Given the description of an element on the screen output the (x, y) to click on. 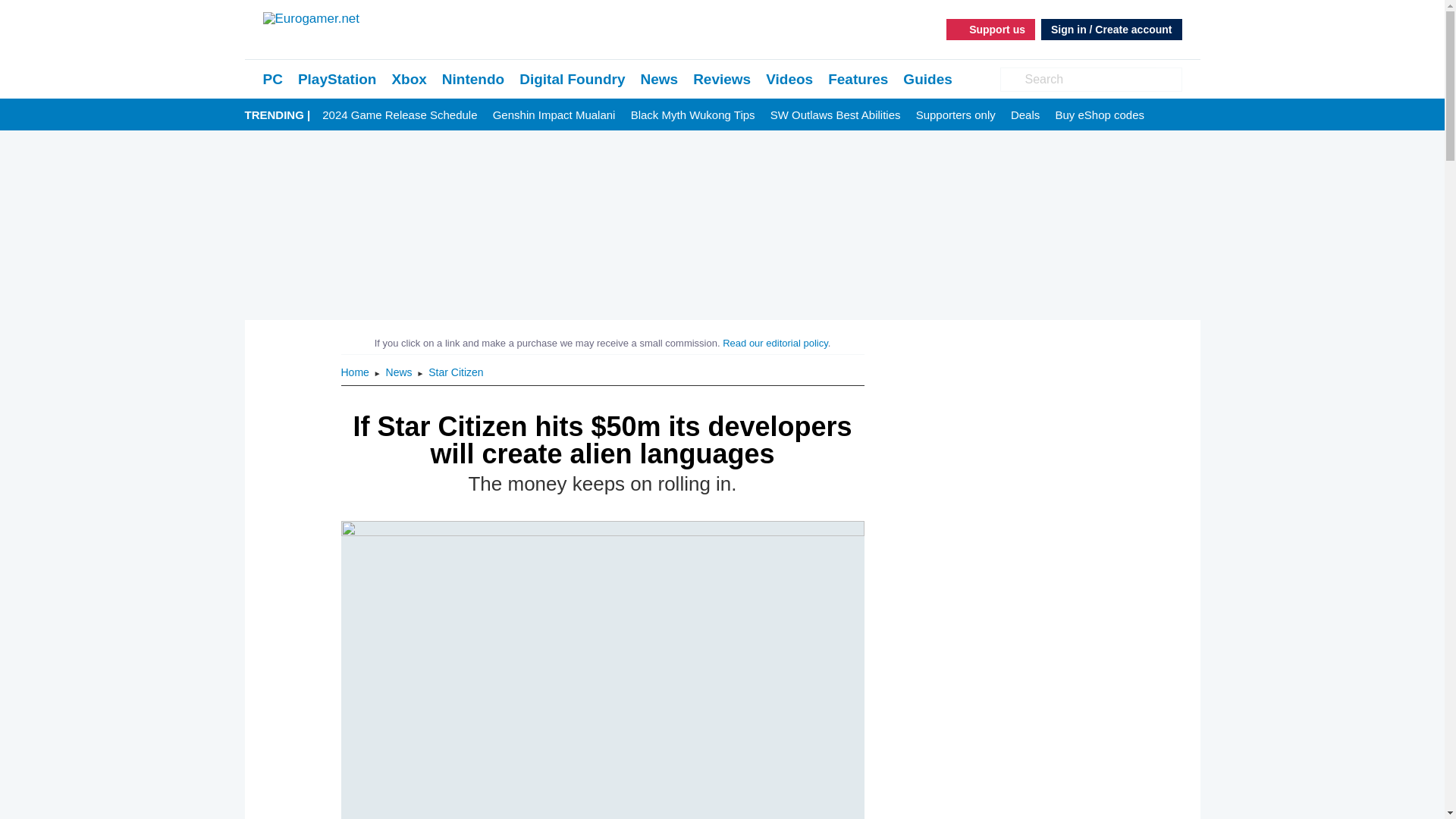
Deals (1024, 114)
Guides (927, 78)
Star Citizen (455, 372)
2024 Game Release Schedule (399, 114)
Buy eShop codes (1099, 114)
Nintendo (472, 78)
Xbox (408, 78)
PlayStation (336, 78)
SW Outlaws Best Abilities (835, 114)
Xbox (408, 78)
